Given the description of an element on the screen output the (x, y) to click on. 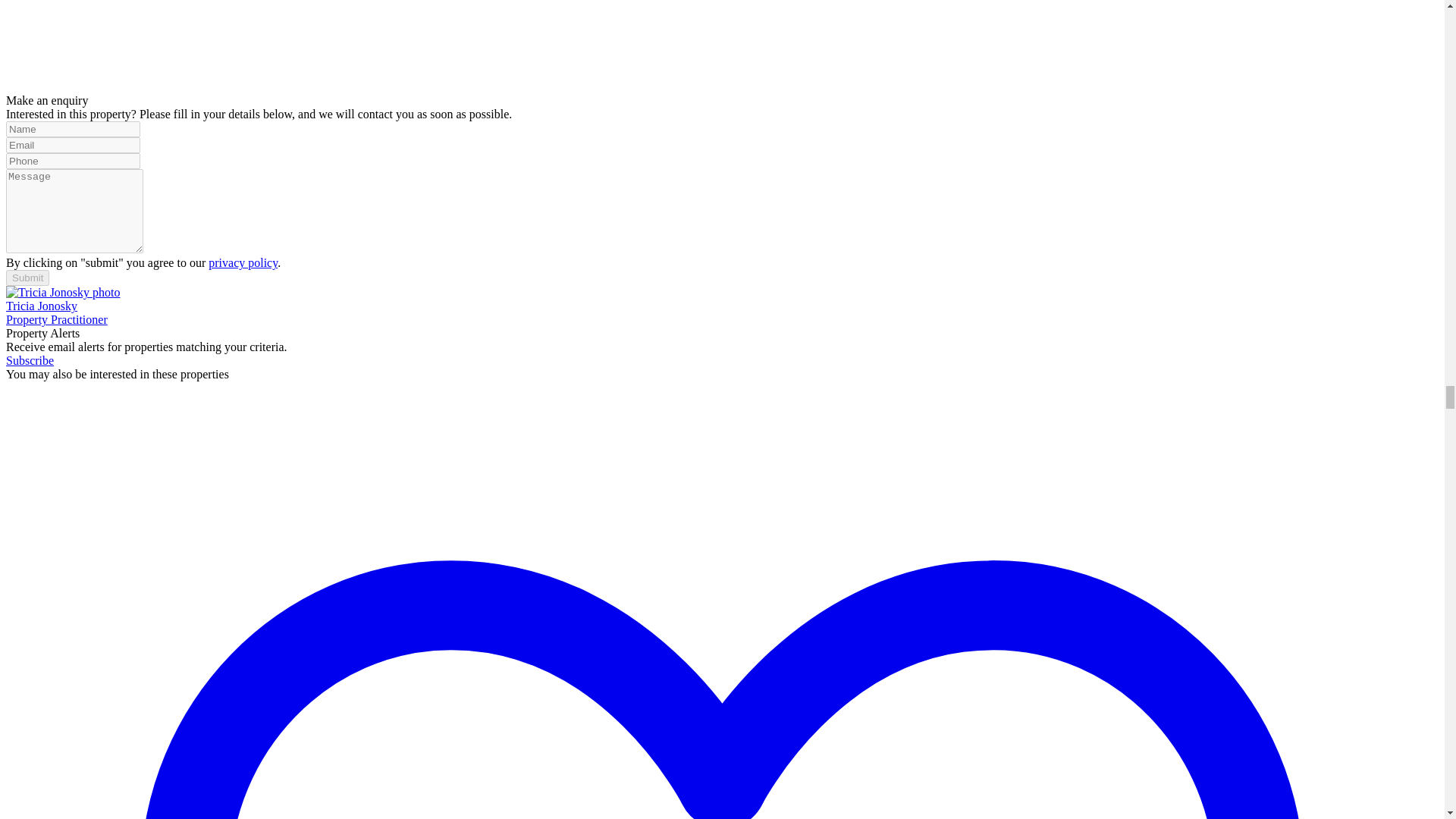
Subscribe (29, 359)
Submit (27, 277)
Submit (27, 277)
privacy policy (243, 262)
